Given the description of an element on the screen output the (x, y) to click on. 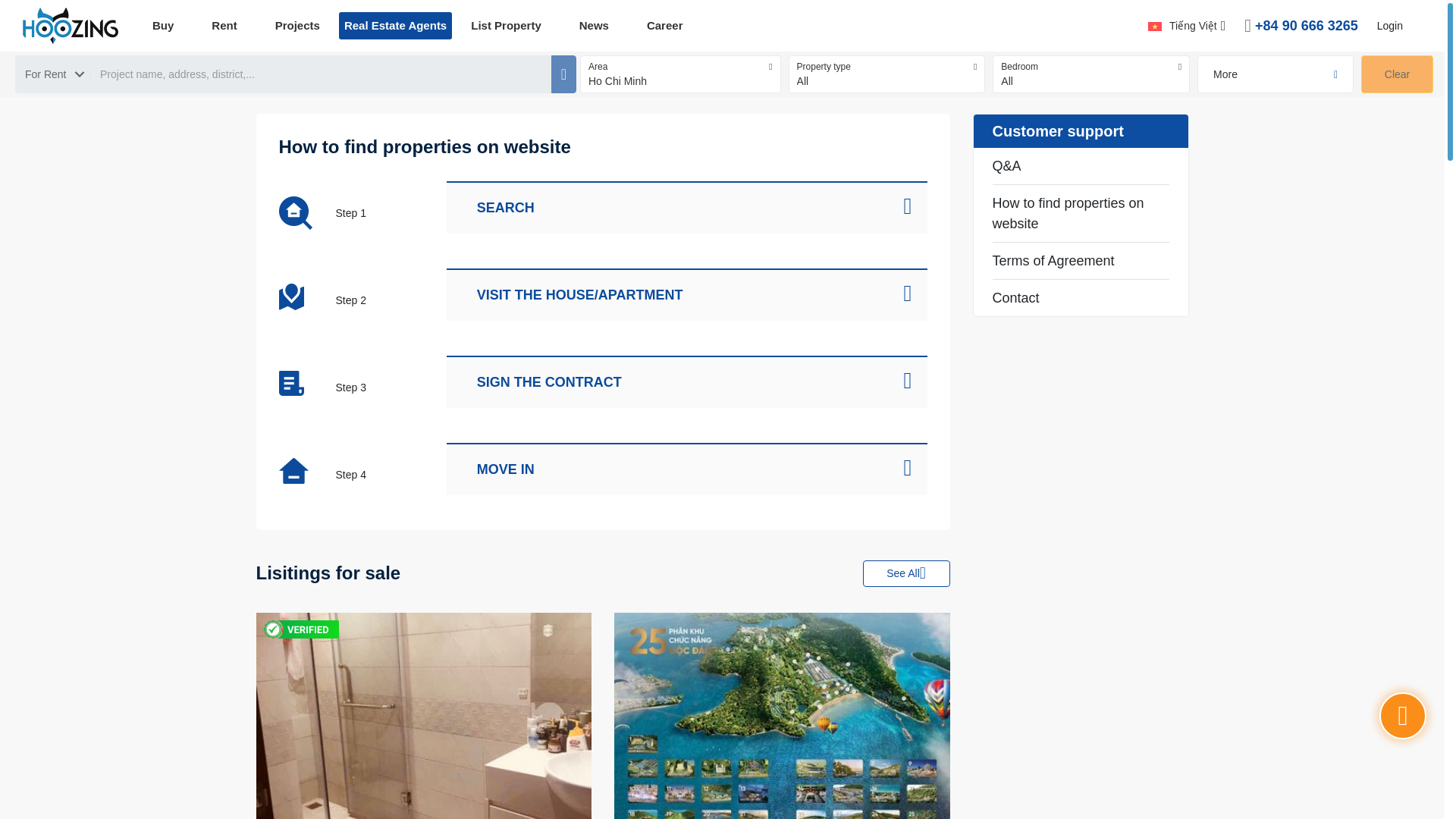
List Property (505, 24)
Real Estate Agents (394, 24)
Career (664, 24)
Rent (223, 24)
News (593, 24)
Projects (297, 24)
See All (906, 573)
Buy (162, 24)
Clear (1396, 74)
